Given the description of an element on the screen output the (x, y) to click on. 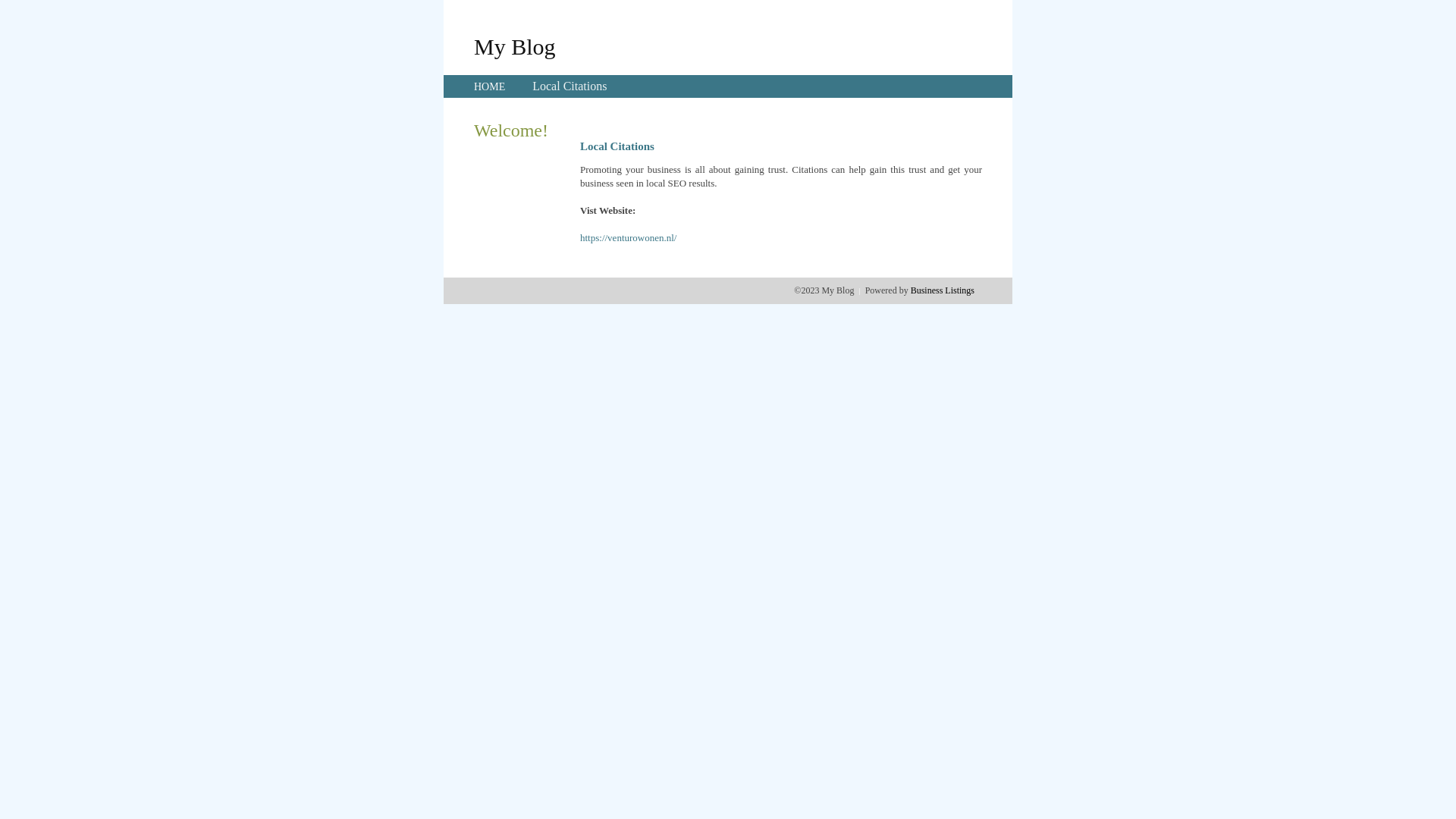
My Blog Element type: text (514, 46)
HOME Element type: text (489, 86)
Local Citations Element type: text (569, 85)
Business Listings Element type: text (942, 290)
https://venturowonen.nl/ Element type: text (628, 237)
